Given the description of an element on the screen output the (x, y) to click on. 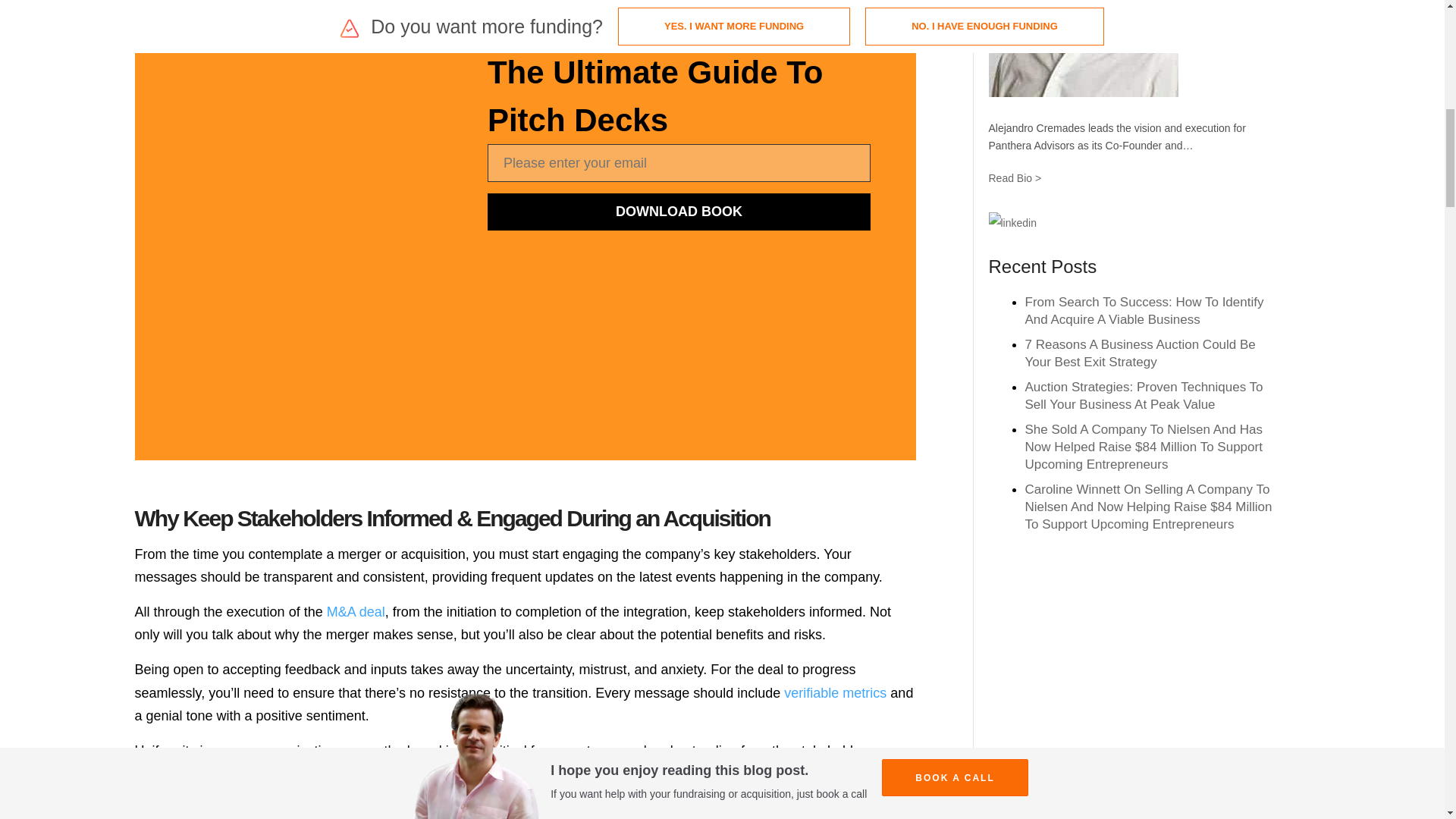
Linkedin Connect (1012, 222)
Linkedin Connect (1012, 222)
Download Book (678, 211)
